Given the description of an element on the screen output the (x, y) to click on. 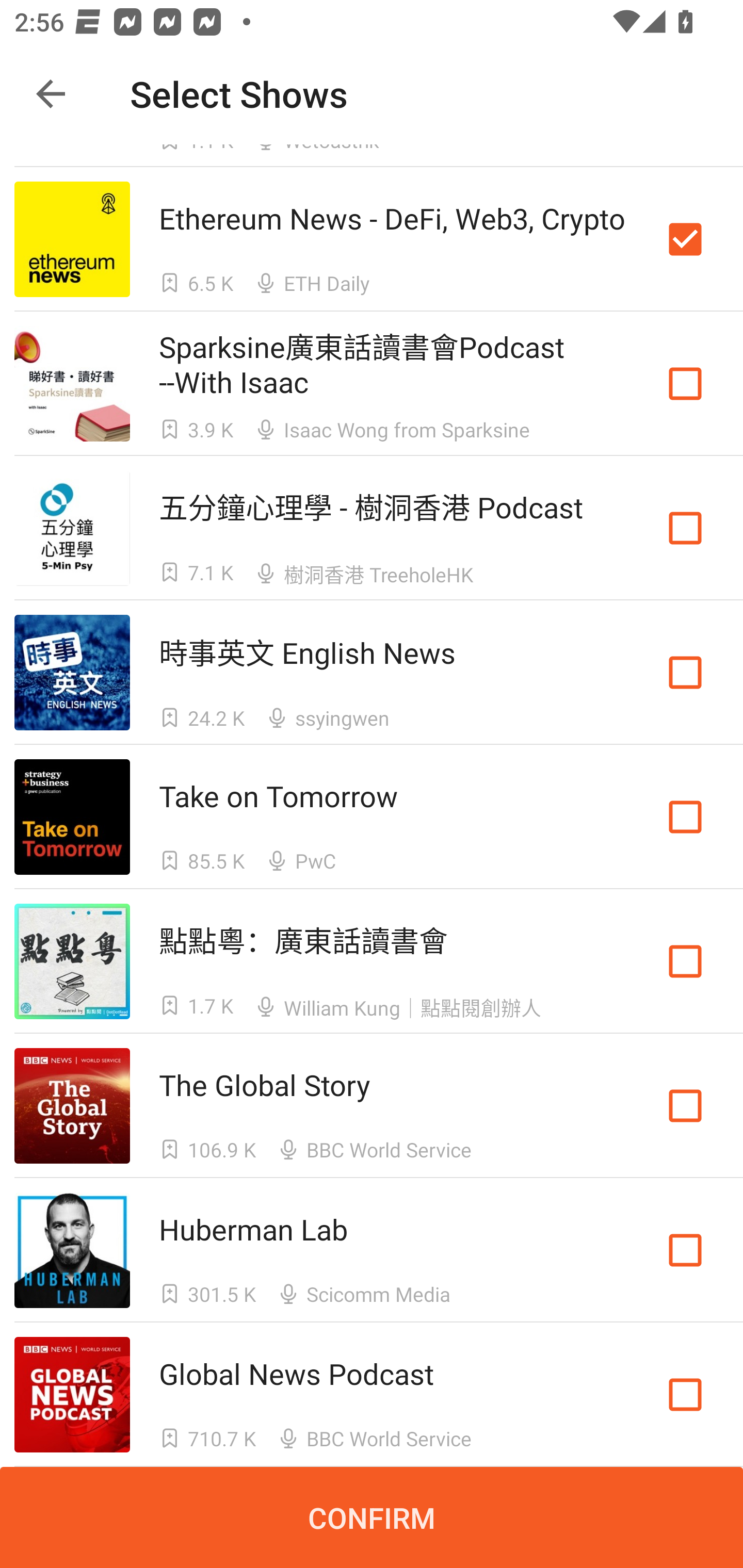
Navigate up (50, 93)
Take on Tomorrow Take on Tomorrow  85.5 K  PwC (371, 816)
CONFIRM (371, 1517)
